Given the description of an element on the screen output the (x, y) to click on. 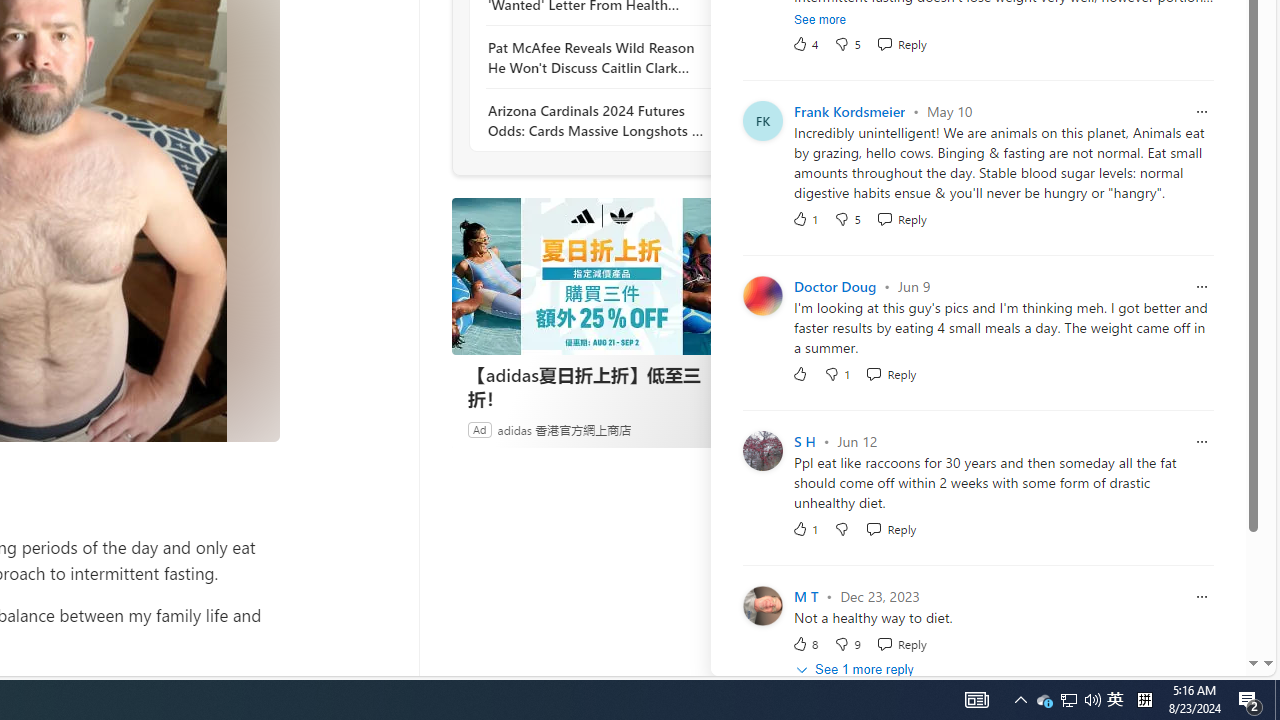
Profile Picture (762, 604)
See 1 more reply (855, 670)
S H (804, 441)
Frank Kordsmeier (849, 110)
Report comment (1201, 595)
Profile Picture (762, 604)
Doctor Doug (834, 285)
Like (799, 372)
